Given the description of an element on the screen output the (x, y) to click on. 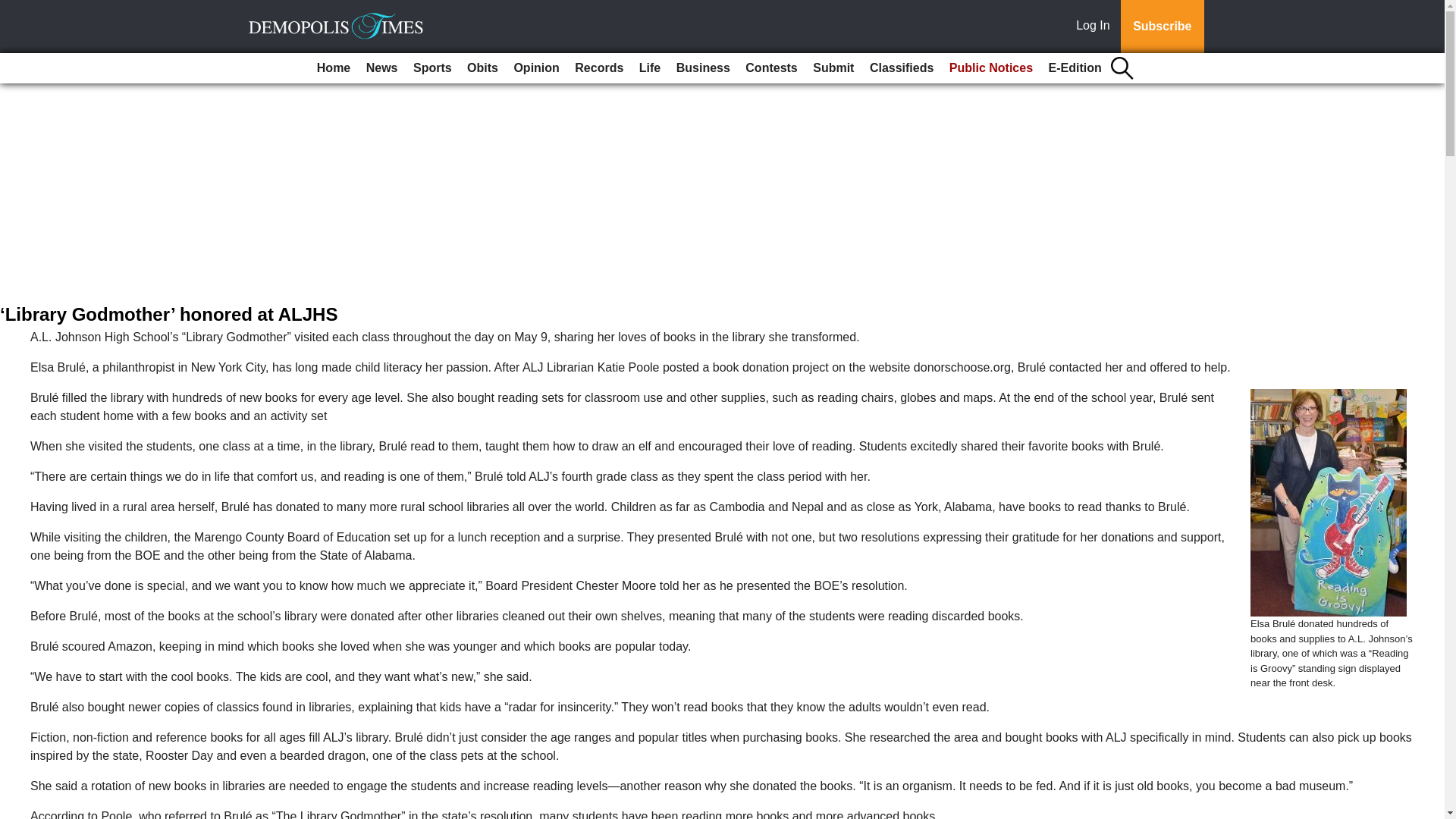
E-Edition (1075, 68)
Life (649, 68)
Public Notices (991, 68)
Log In (1095, 26)
News (381, 68)
Classifieds (901, 68)
Sports (432, 68)
Obits (482, 68)
Go (13, 9)
Contests (771, 68)
Opinion (535, 68)
Records (598, 68)
Home (333, 68)
Business (702, 68)
Submit (833, 68)
